Given the description of an element on the screen output the (x, y) to click on. 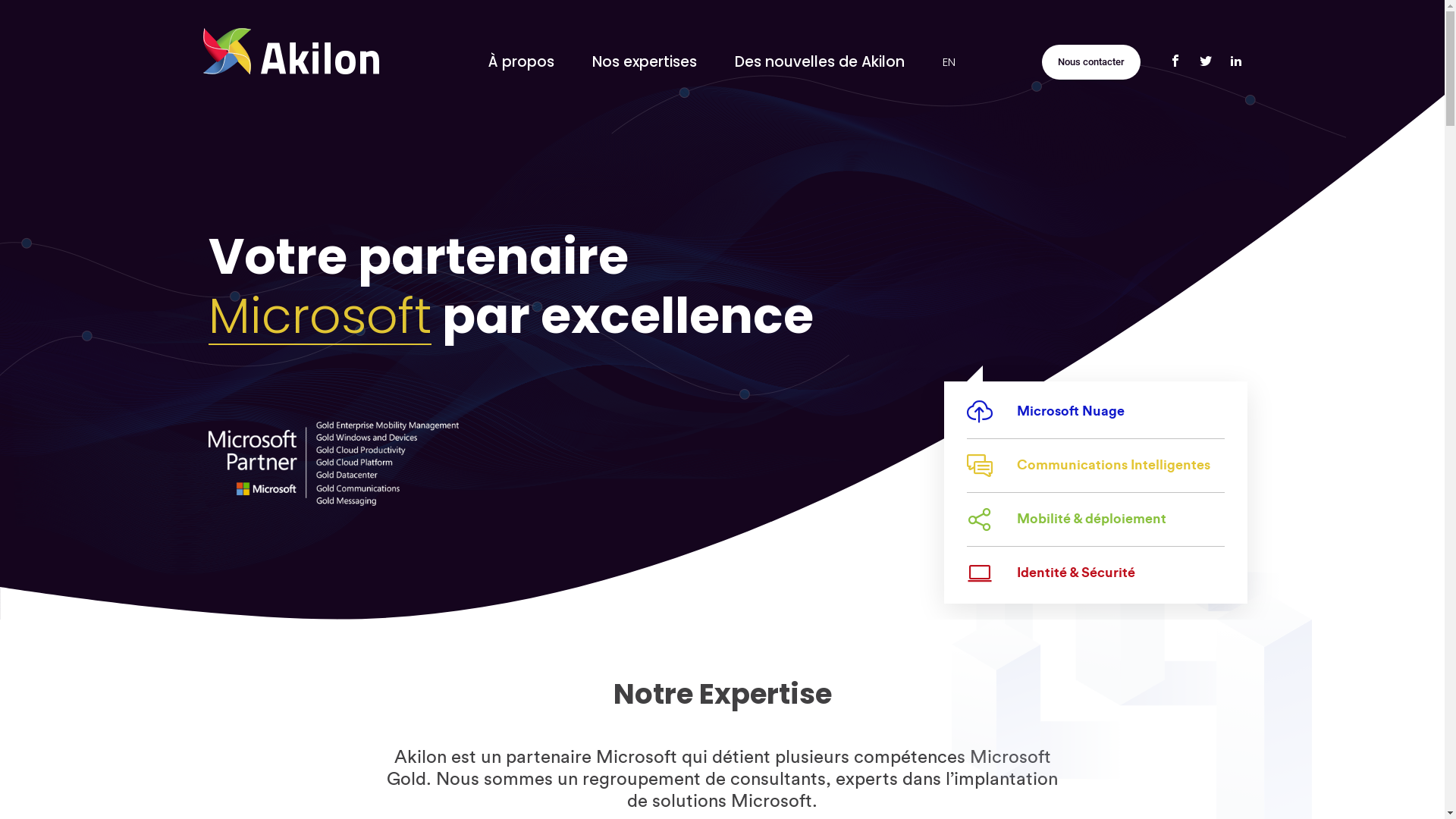
Nos expertises Element type: text (643, 61)
EN Element type: text (947, 61)
Nous contacter Element type: text (1090, 60)
Microsoft Nuage Element type: text (1045, 410)
Communications Intelligentes Element type: text (1088, 464)
Des nouvelles de Akilon Element type: text (818, 61)
